Given the description of an element on the screen output the (x, y) to click on. 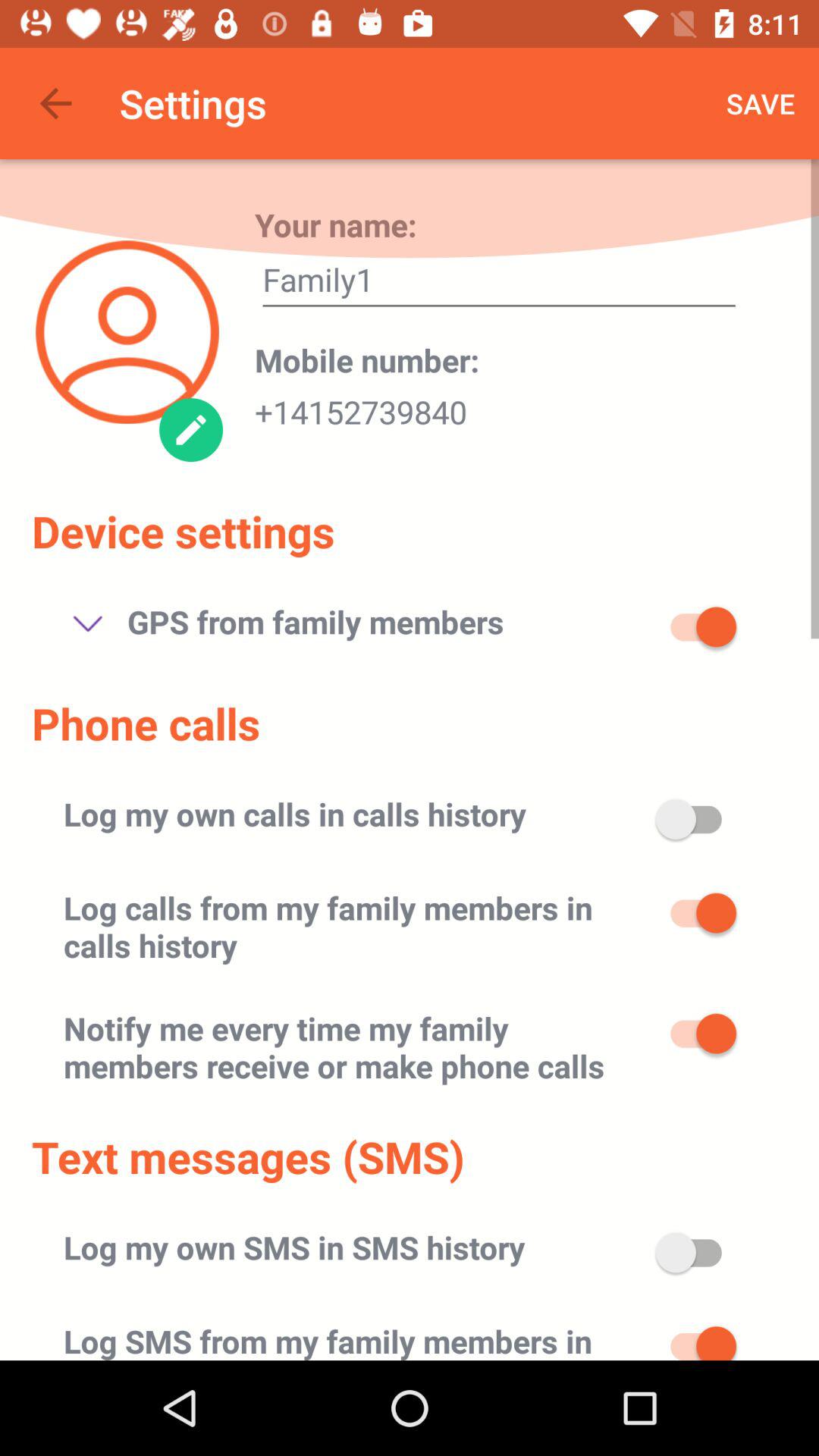
select the item below mobile number: item (360, 407)
